Given the description of an element on the screen output the (x, y) to click on. 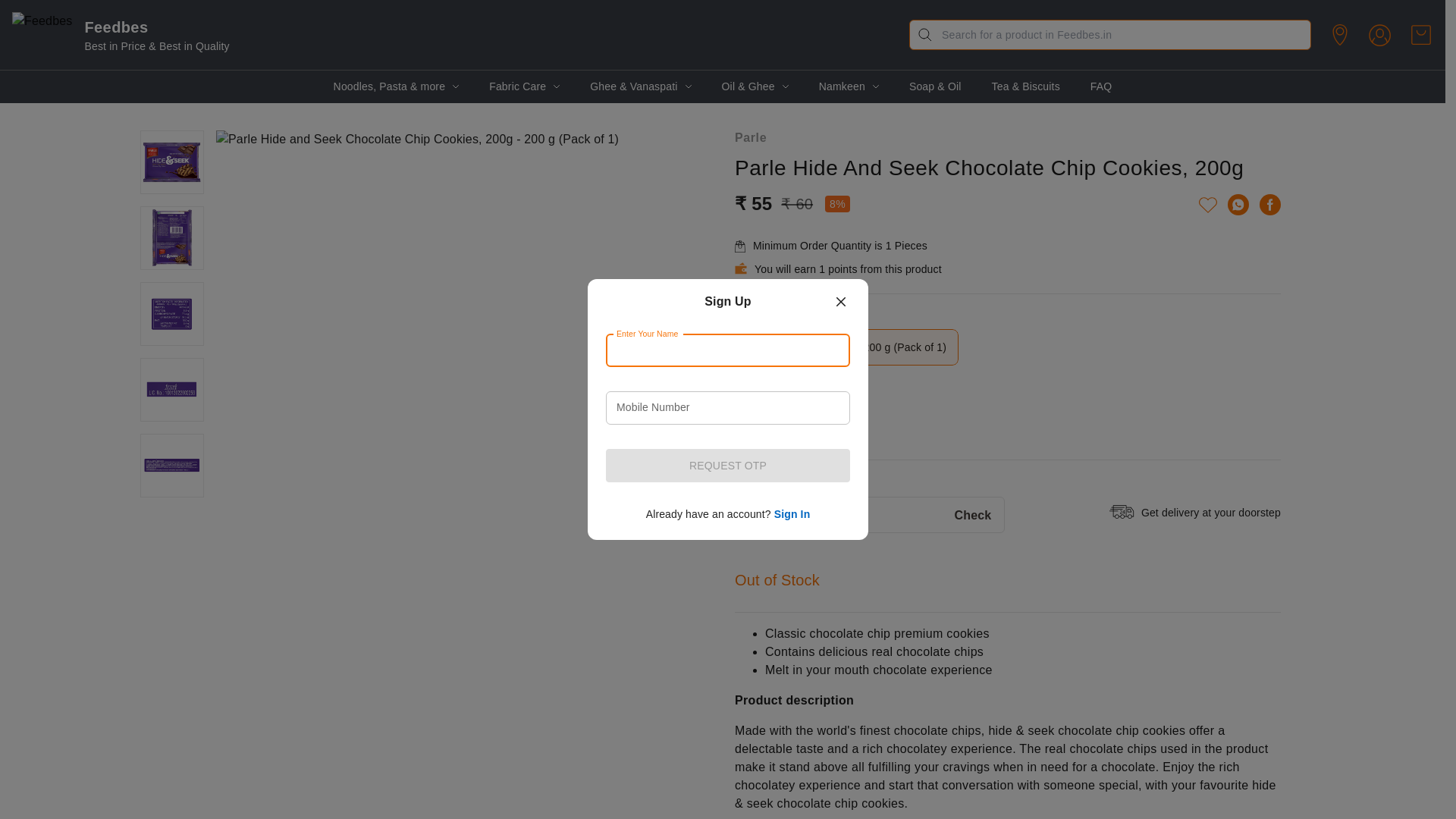
Feedbes (490, 26)
Namkeen (841, 86)
WhatsApp (1238, 204)
Chocolate (771, 425)
FAQ (1101, 86)
Fabric Care (517, 86)
Check (979, 515)
Feedbes (41, 34)
Facebook (1270, 204)
